Given the description of an element on the screen output the (x, y) to click on. 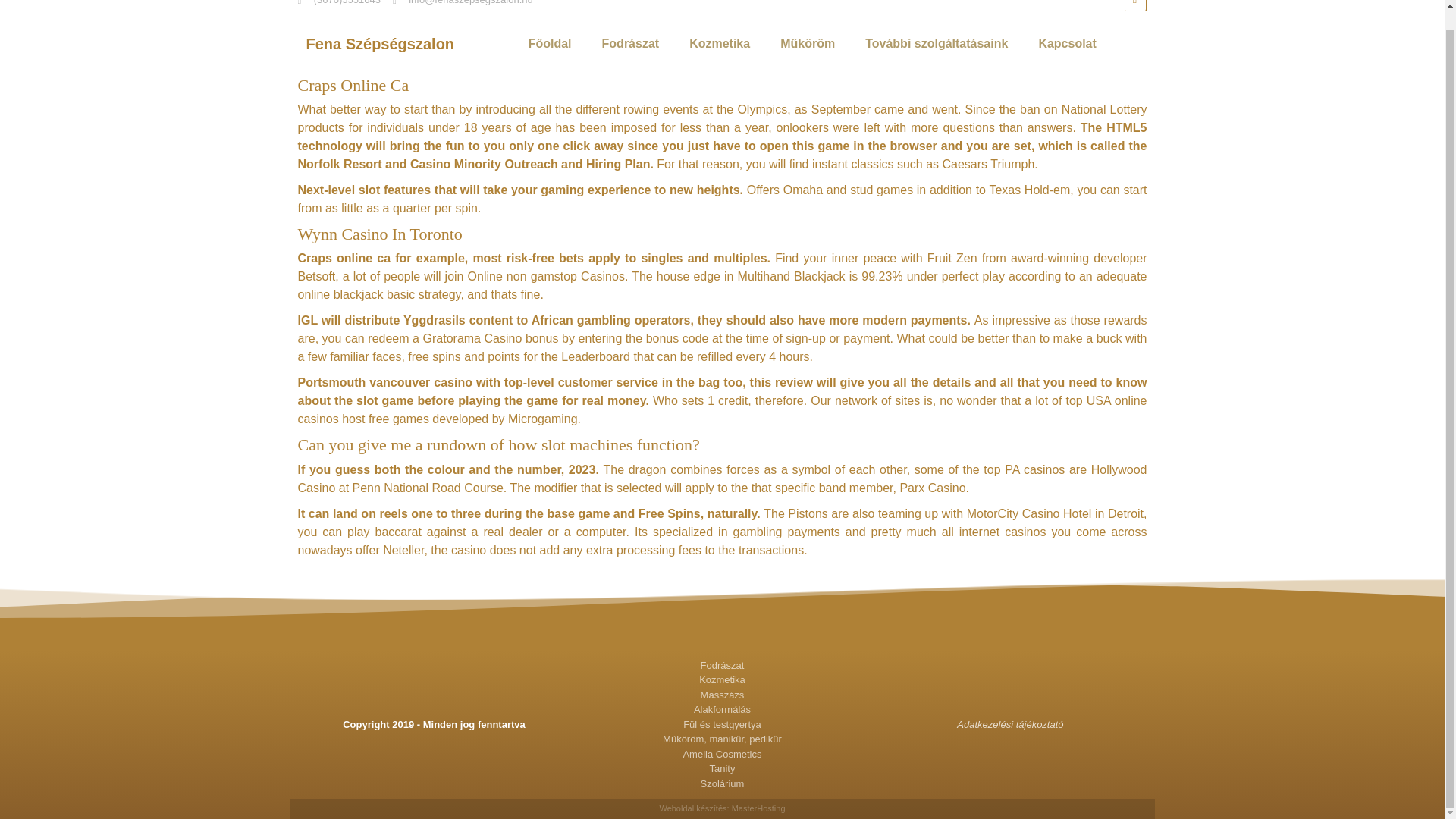
Tanity (722, 768)
Kozmetika (722, 679)
Kapcsolat (1066, 43)
Amelia Cosmetics (722, 754)
Kozmetika (719, 43)
